Given the description of an element on the screen output the (x, y) to click on. 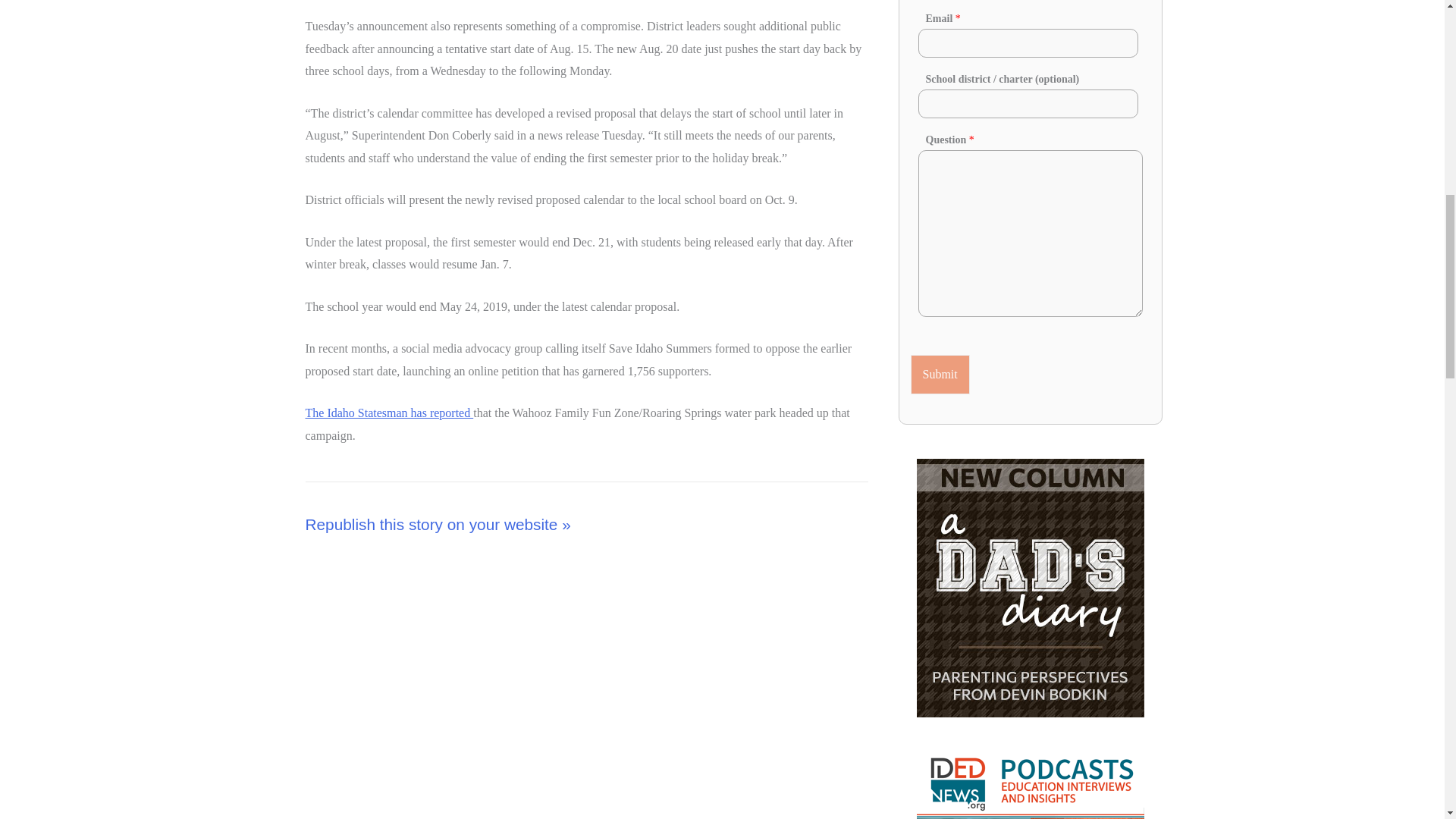
The Idaho Statesman has reported (388, 412)
Submit (939, 373)
